Given the description of an element on the screen output the (x, y) to click on. 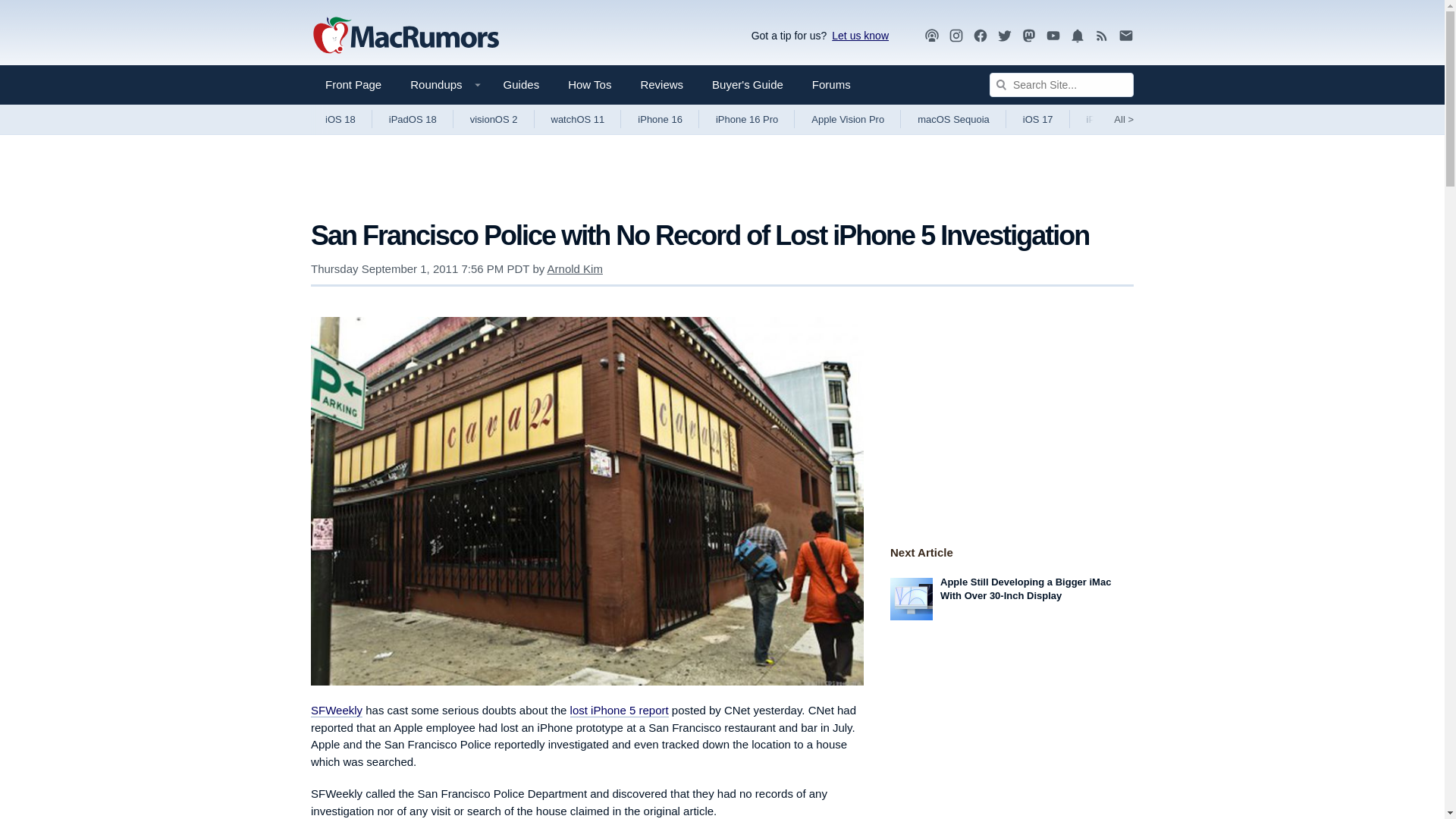
Notifications (1077, 35)
Newsletter (1126, 35)
Front (353, 84)
MacRumors Push Notifications (1077, 35)
YouTube (1053, 35)
Let us know (857, 35)
Facebook (980, 35)
Forums (830, 84)
Roundups (441, 84)
Newsletter (1126, 35)
